Given the description of an element on the screen output the (x, y) to click on. 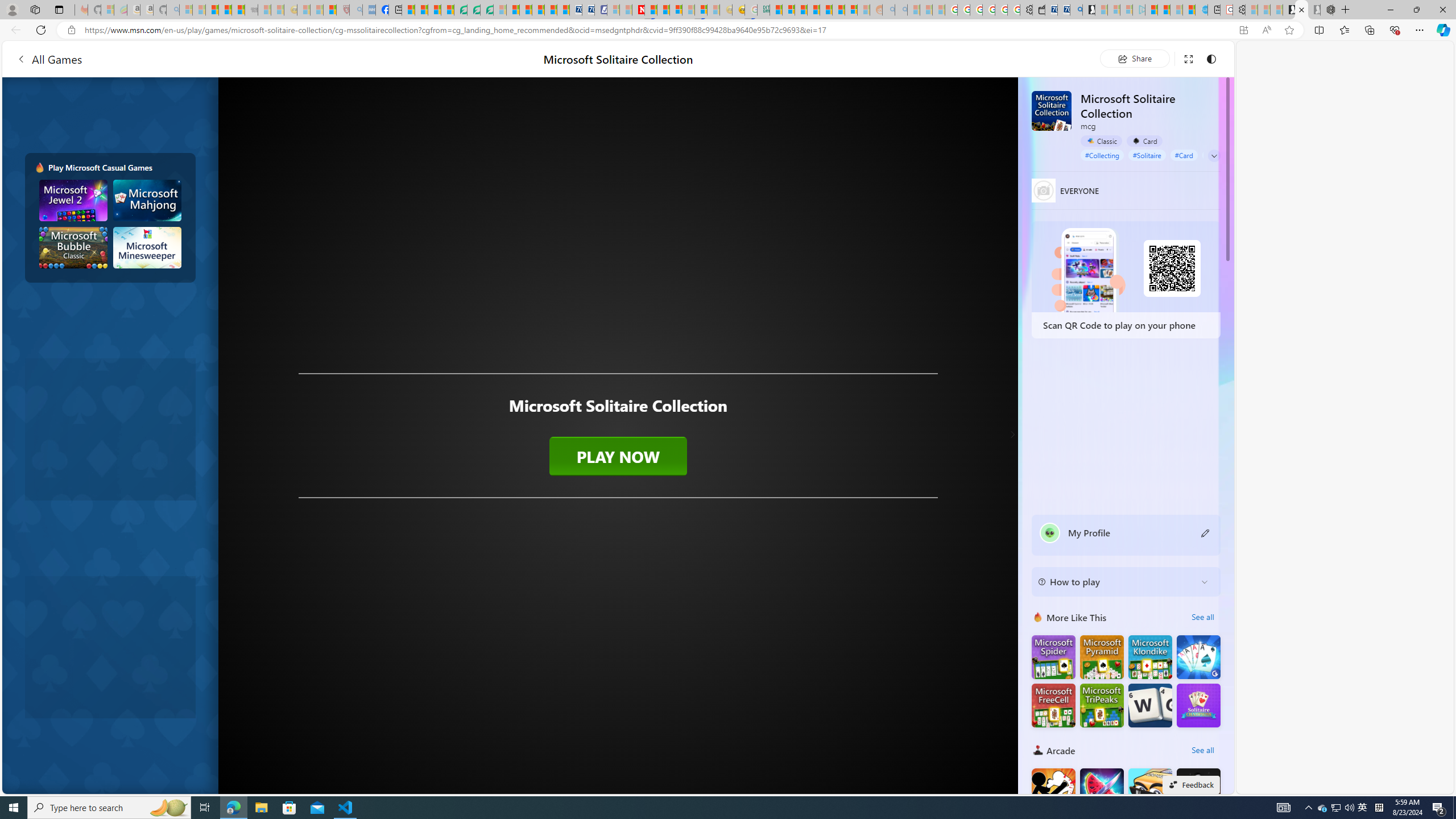
#Collecting (1102, 155)
""'s avatar (1049, 532)
More Like This (1037, 616)
Hunter Hitman (1198, 789)
Class: image (617, 420)
#Solitaire (1147, 155)
Microsoft Word - consumer-privacy address update 2.2021 (486, 9)
